Given the description of an element on the screen output the (x, y) to click on. 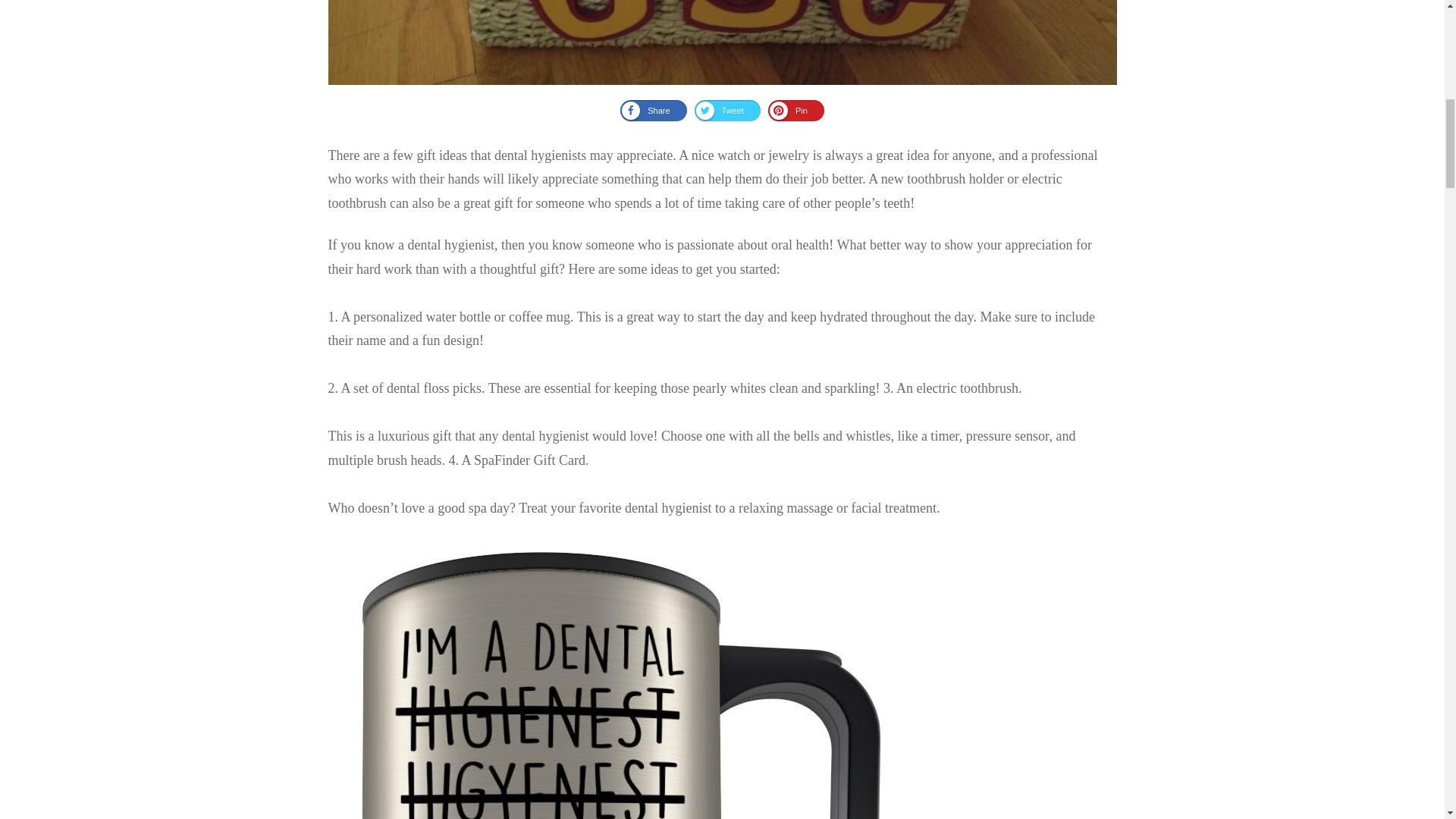
Pin (796, 110)
Dental Hygienist Gifts Ideas (721, 42)
Share (652, 110)
Tweet (727, 110)
